Given the description of an element on the screen output the (x, y) to click on. 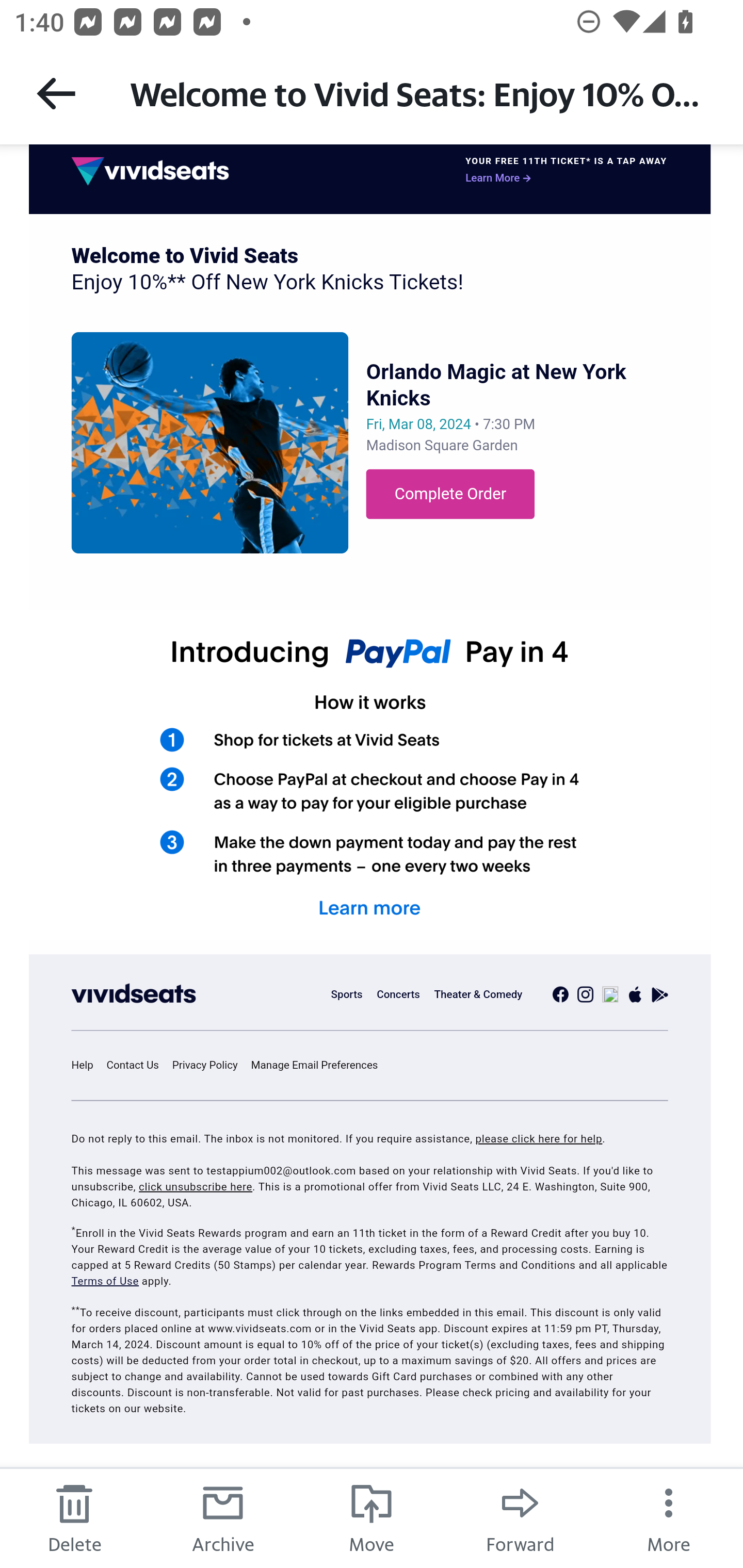
Back (55, 92)
New York Knicks (210, 441)
Orlando Magic at New York Knicks (496, 384)
Complete Order (449, 494)
facebook (560, 993)
instagram (585, 993)
twitter (609, 993)
iPhone (635, 993)
Android (659, 993)
Sports (346, 993)
Concerts (397, 993)
Theater & Comedy (477, 993)
Help (87, 1065)
Contact Us (137, 1065)
Privacy Policy (209, 1065)
Manage Email Preferences (320, 1065)
please click here for help (537, 1139)
click unsubscribe here (195, 1186)
Terms of Use (105, 1280)
Delete (74, 1517)
Archive (222, 1517)
Move (371, 1517)
Forward (519, 1517)
More (668, 1517)
